Given the description of an element on the screen output the (x, y) to click on. 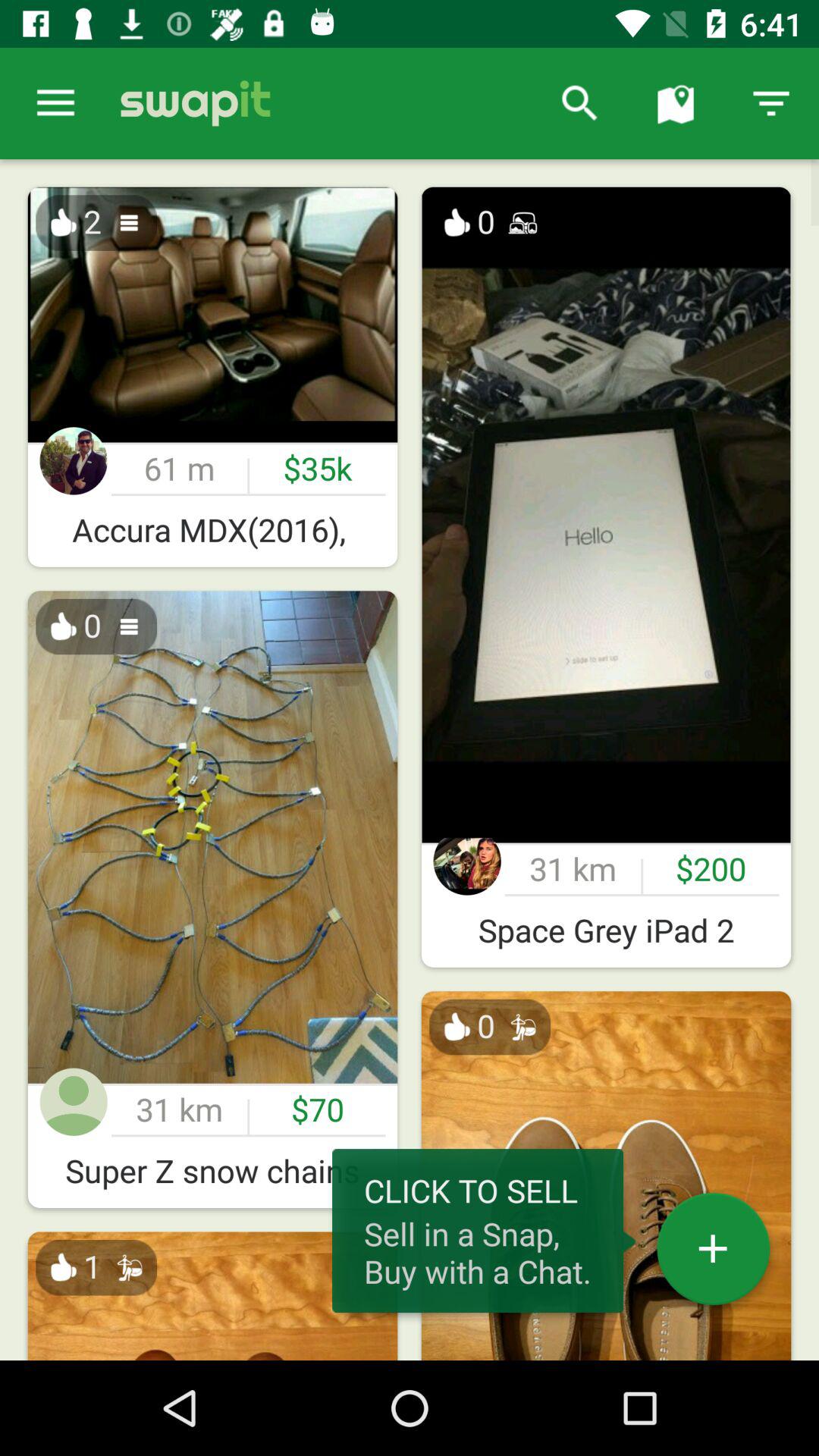
turn off item next to the it (579, 103)
